Given the description of an element on the screen output the (x, y) to click on. 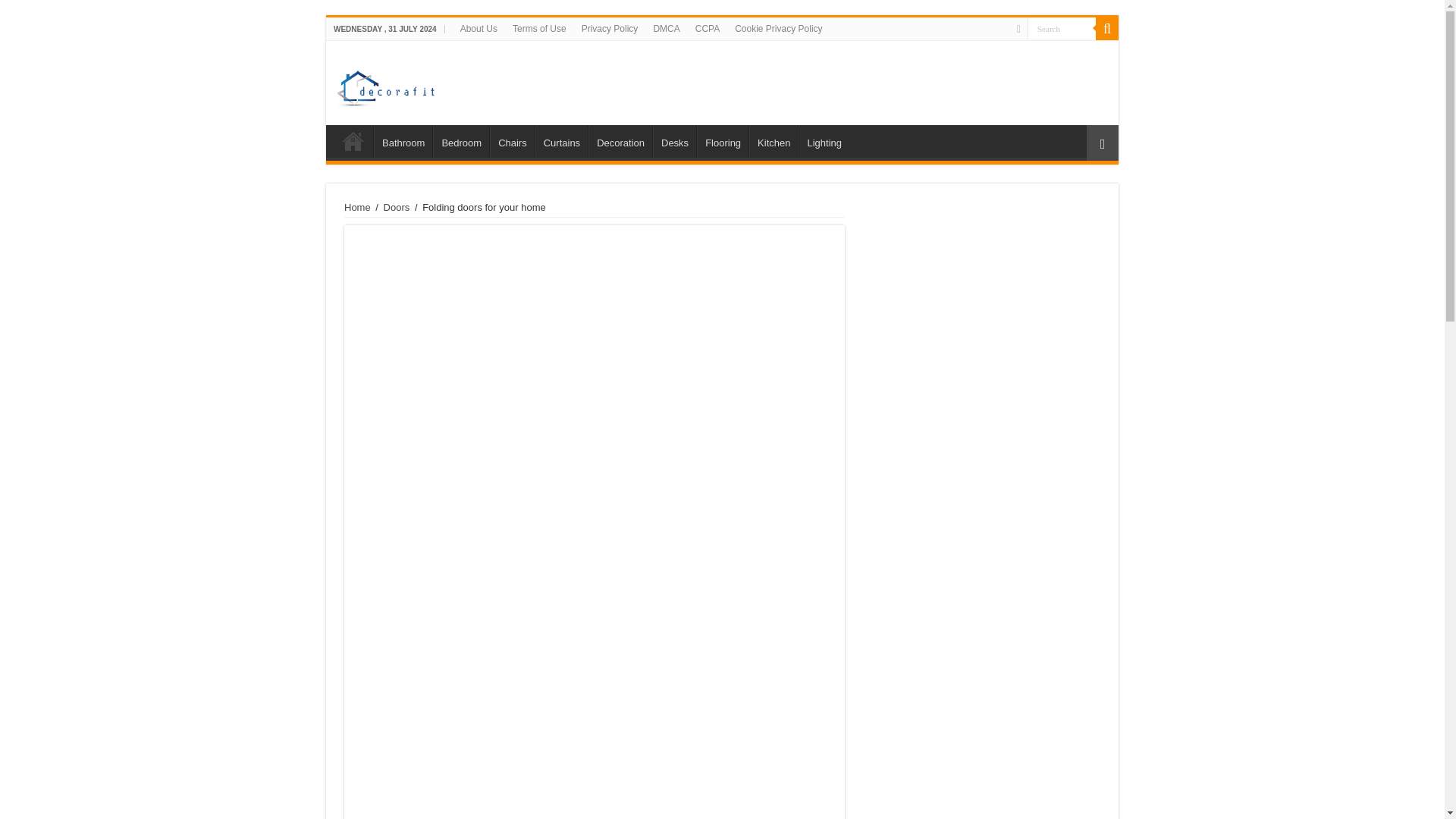
Search (1061, 28)
Terms of Use (539, 28)
Bathroom (403, 141)
Bedroom (460, 141)
Chairs (511, 141)
Lighting (822, 141)
Home (357, 206)
Flooring (722, 141)
Decoration (620, 141)
Doors (397, 206)
About Us (478, 28)
Search (1107, 28)
Privacy Policy (609, 28)
Search (1061, 28)
Desks (673, 141)
